Given the description of an element on the screen output the (x, y) to click on. 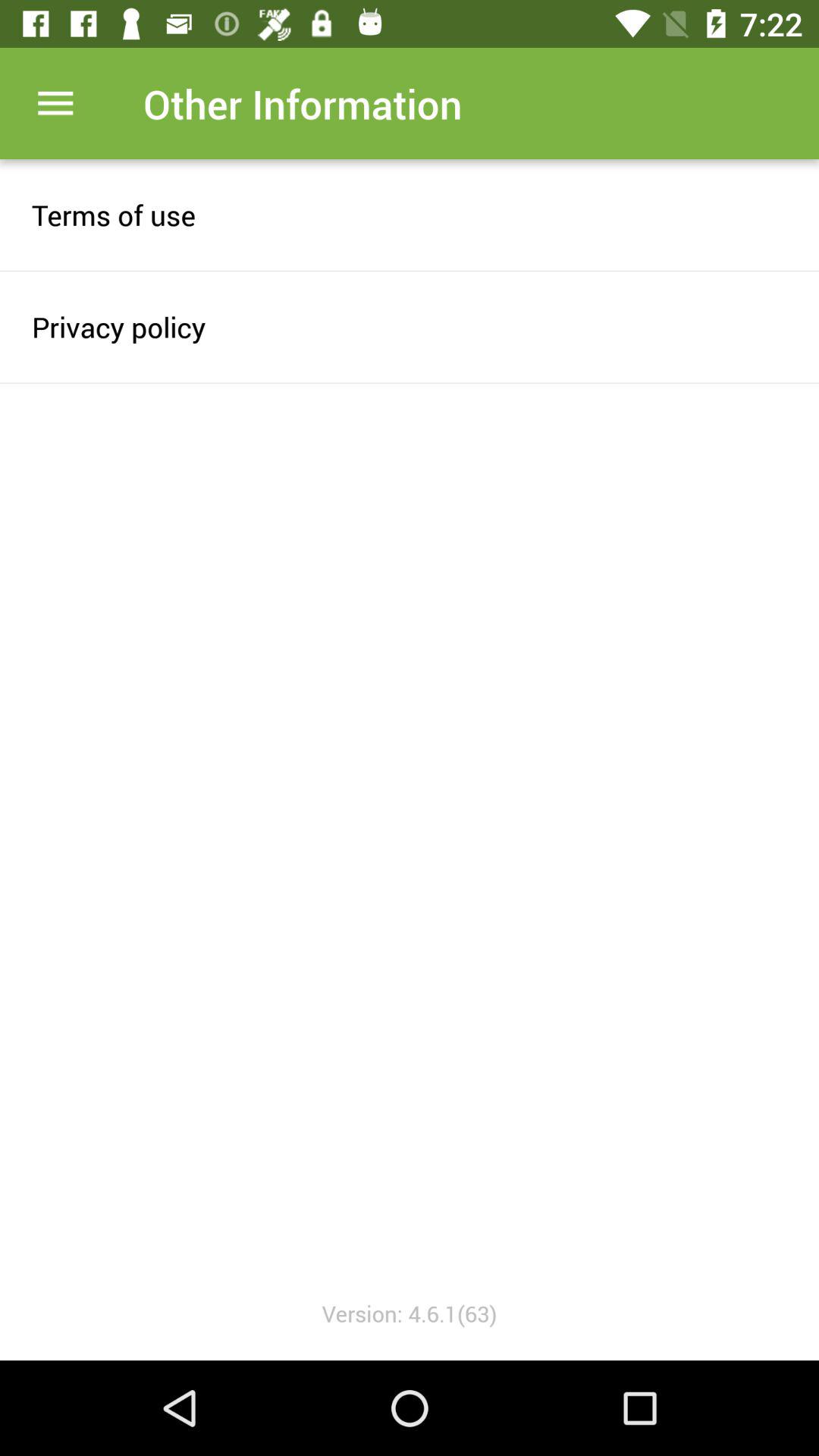
tap for menu options (55, 103)
